Given the description of an element on the screen output the (x, y) to click on. 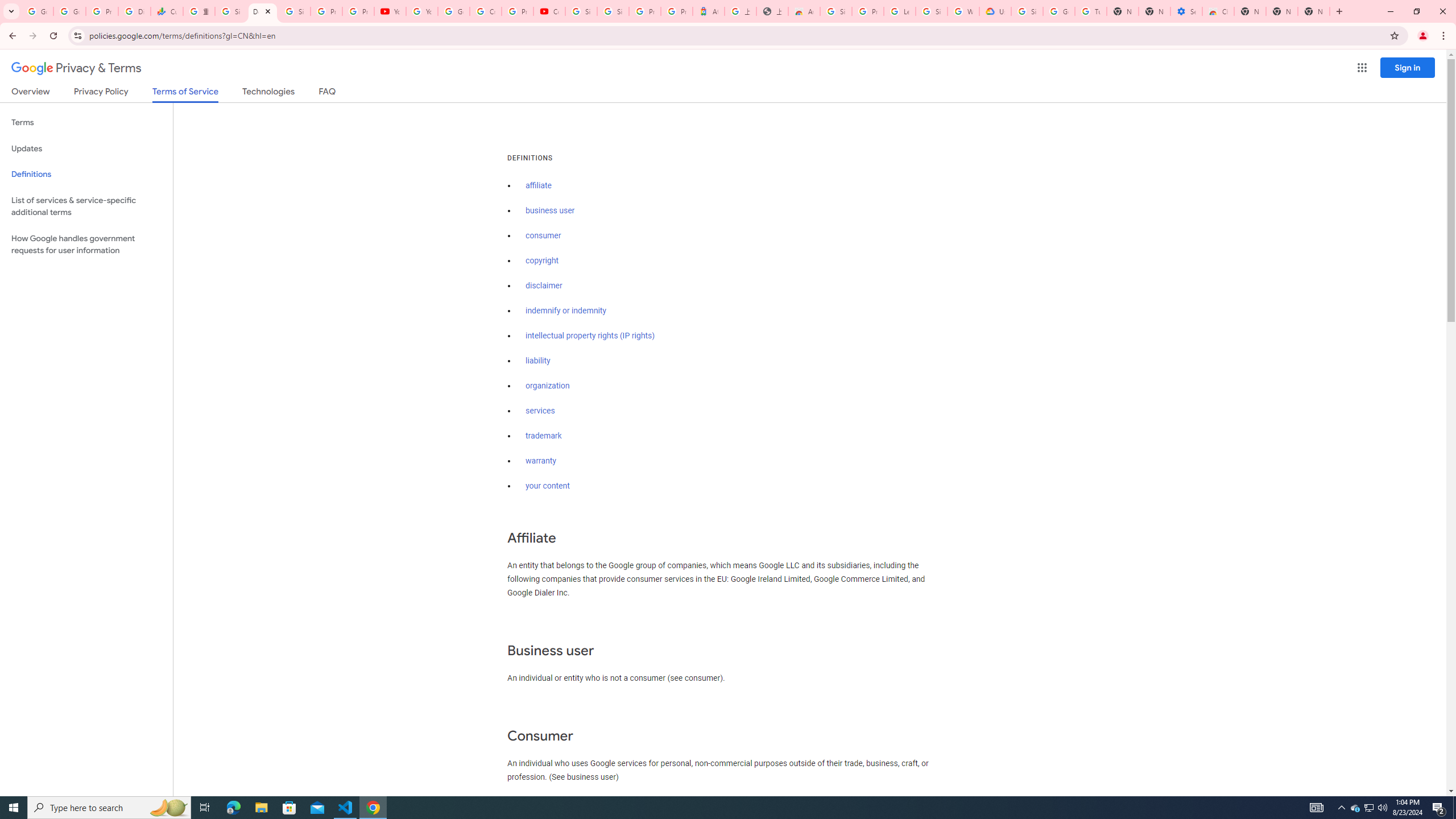
Atour Hotel - Google hotels (708, 11)
New Tab (1313, 11)
